Given the description of an element on the screen output the (x, y) to click on. 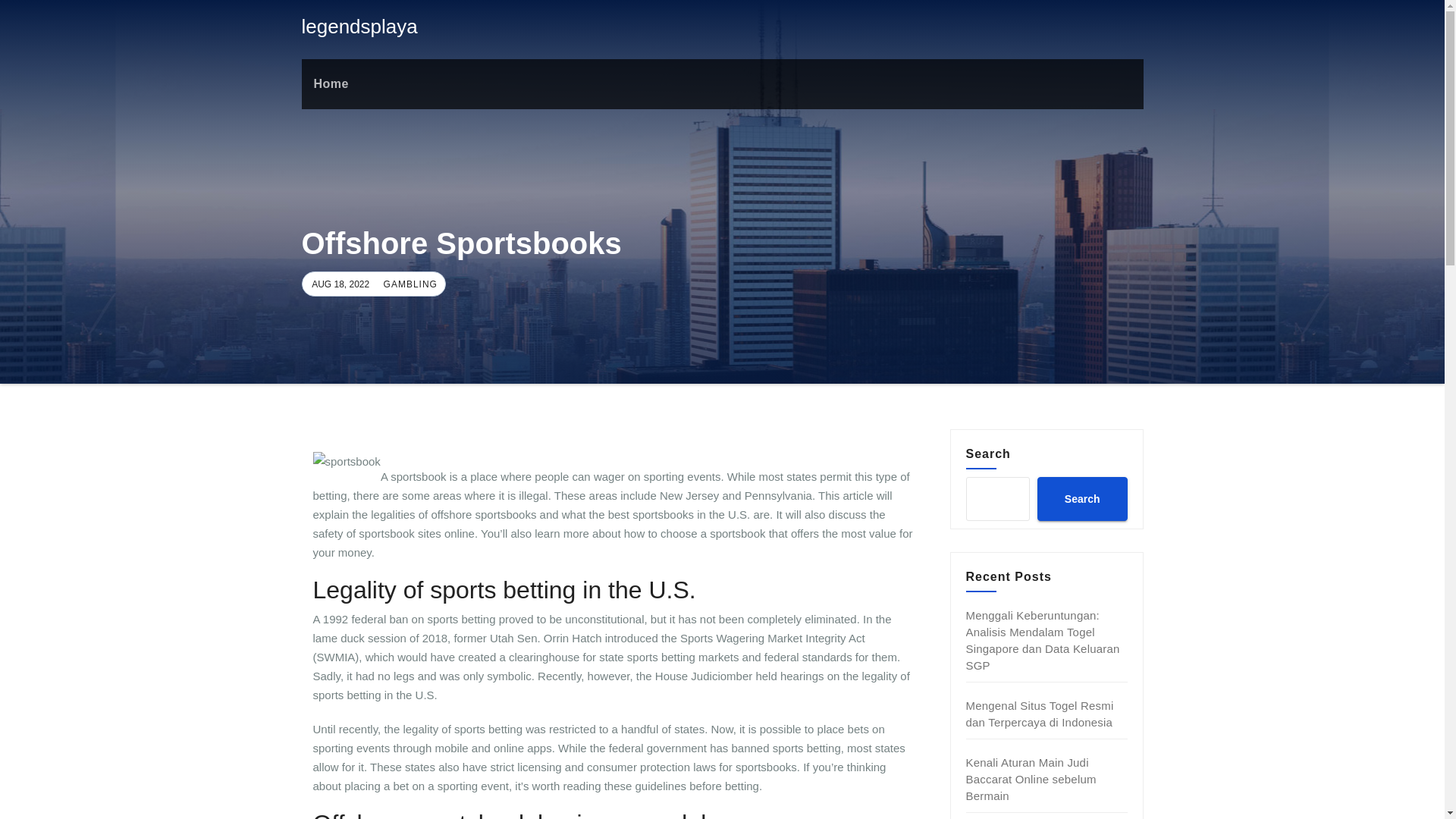
Kenali Aturan Main Judi Baccarat Online sebelum Bermain (1031, 778)
Home (331, 83)
Search (1081, 498)
GAMBLING (409, 284)
Mengenal Situs Togel Resmi dan Terpercaya di Indonesia (1039, 713)
legendsplaya (359, 26)
Home (331, 83)
